Given the description of an element on the screen output the (x, y) to click on. 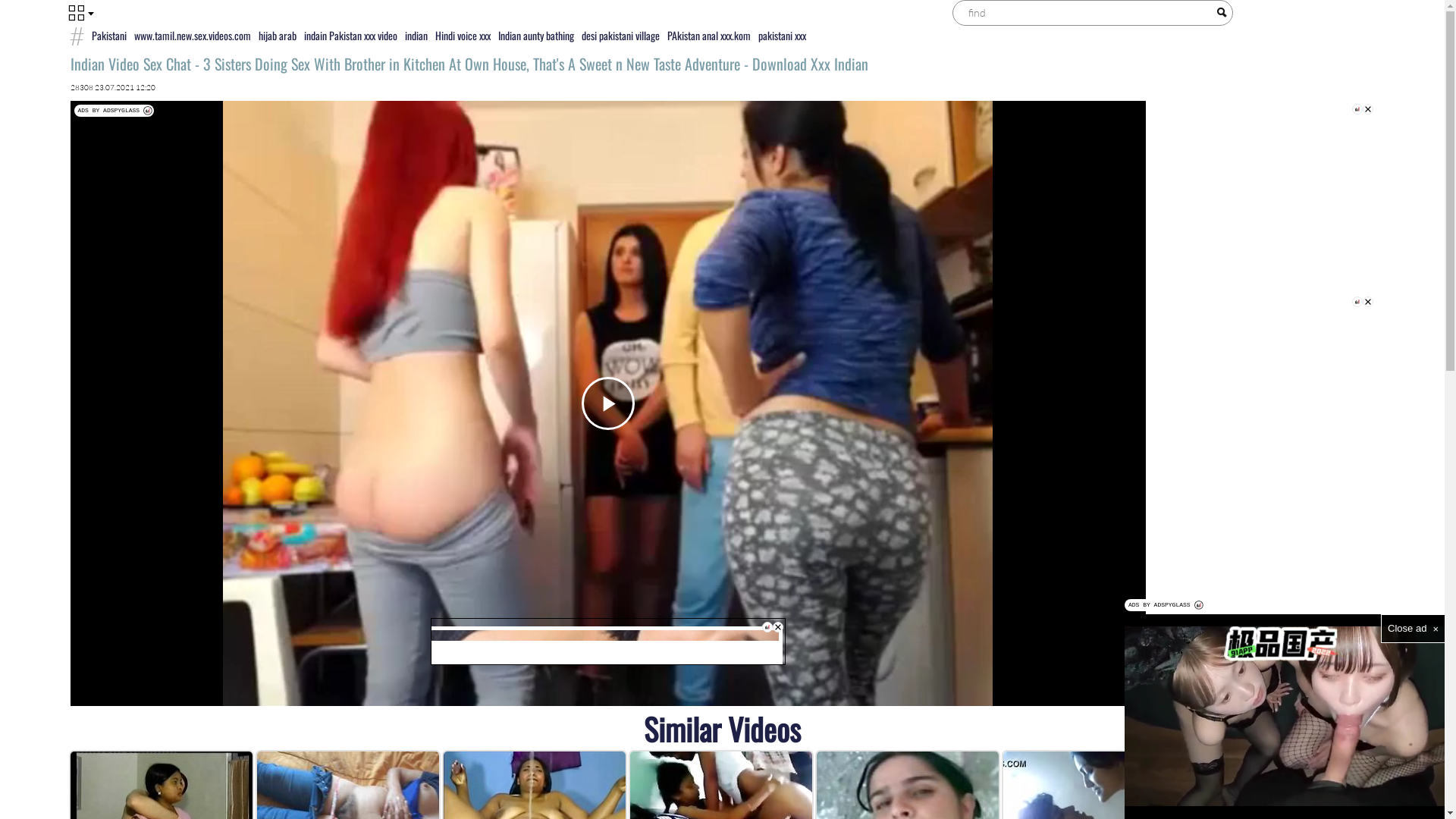
indian Element type: text (415, 35)
Pakistani Element type: text (108, 35)
indain Pakistan xxx video Element type: text (350, 35)
PAkistan anal xxx.kom Element type: text (707, 35)
Play Video Element type: text (606, 402)
ADS BY ADSPYGLASS Element type: text (1164, 605)
ADS BY ADSPYGLASS Element type: text (114, 110)
desi pakistani village Element type: text (620, 35)
Hindi voice xxx Element type: text (461, 35)
Indian aunty bathing Element type: text (535, 35)
pakistani xxx Element type: text (781, 35)
www.tamil.new.sex.videos.com Element type: text (192, 35)
hijab arab Element type: text (277, 35)
